Given the description of an element on the screen output the (x, y) to click on. 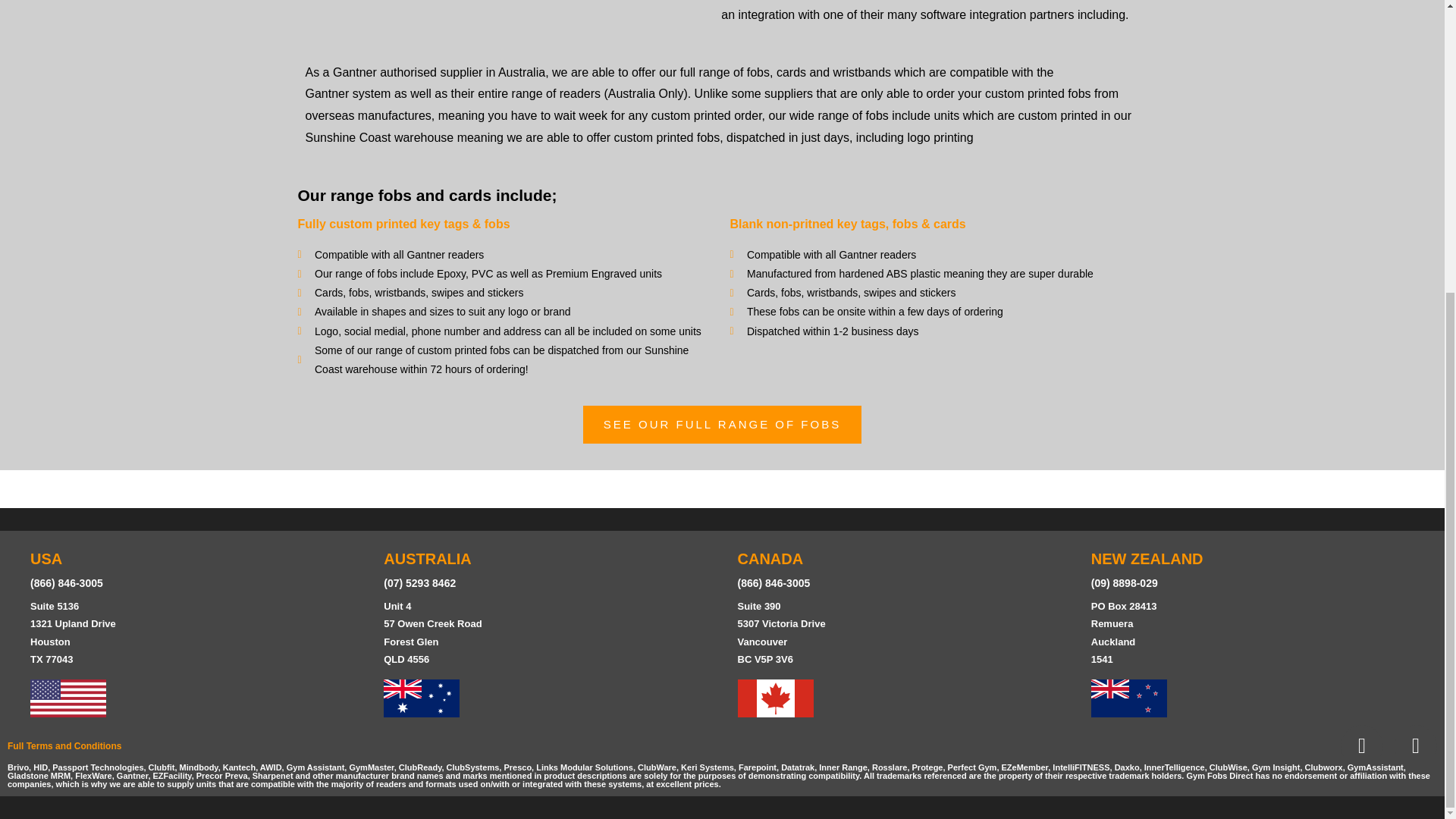
United-States-Of-America-Flag (68, 698)
Canadian-flag (774, 698)
New-Zealand-flag (1128, 698)
Australian-flag (422, 698)
